Given the description of an element on the screen output the (x, y) to click on. 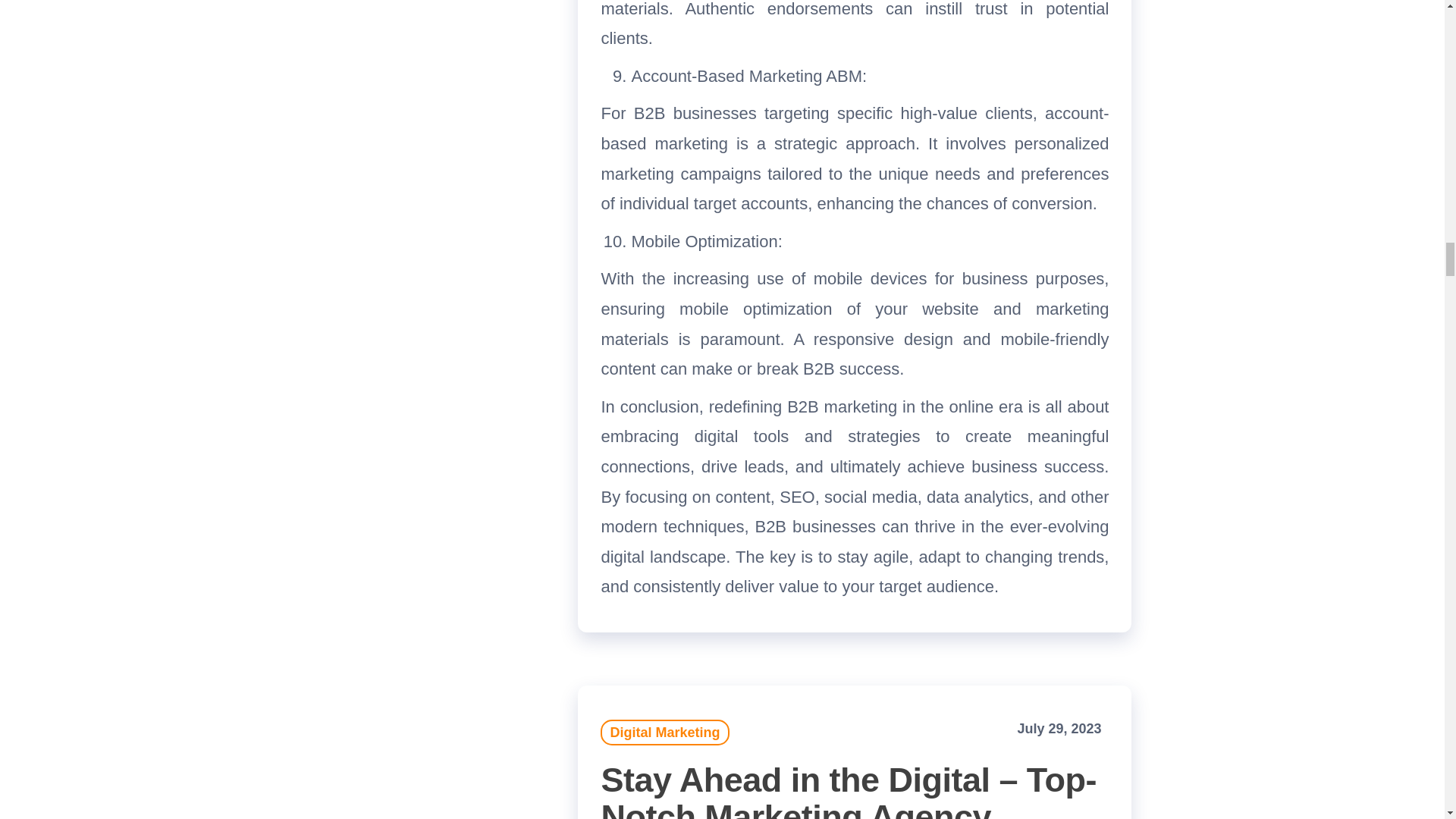
Digital Marketing (664, 732)
